Given the description of an element on the screen output the (x, y) to click on. 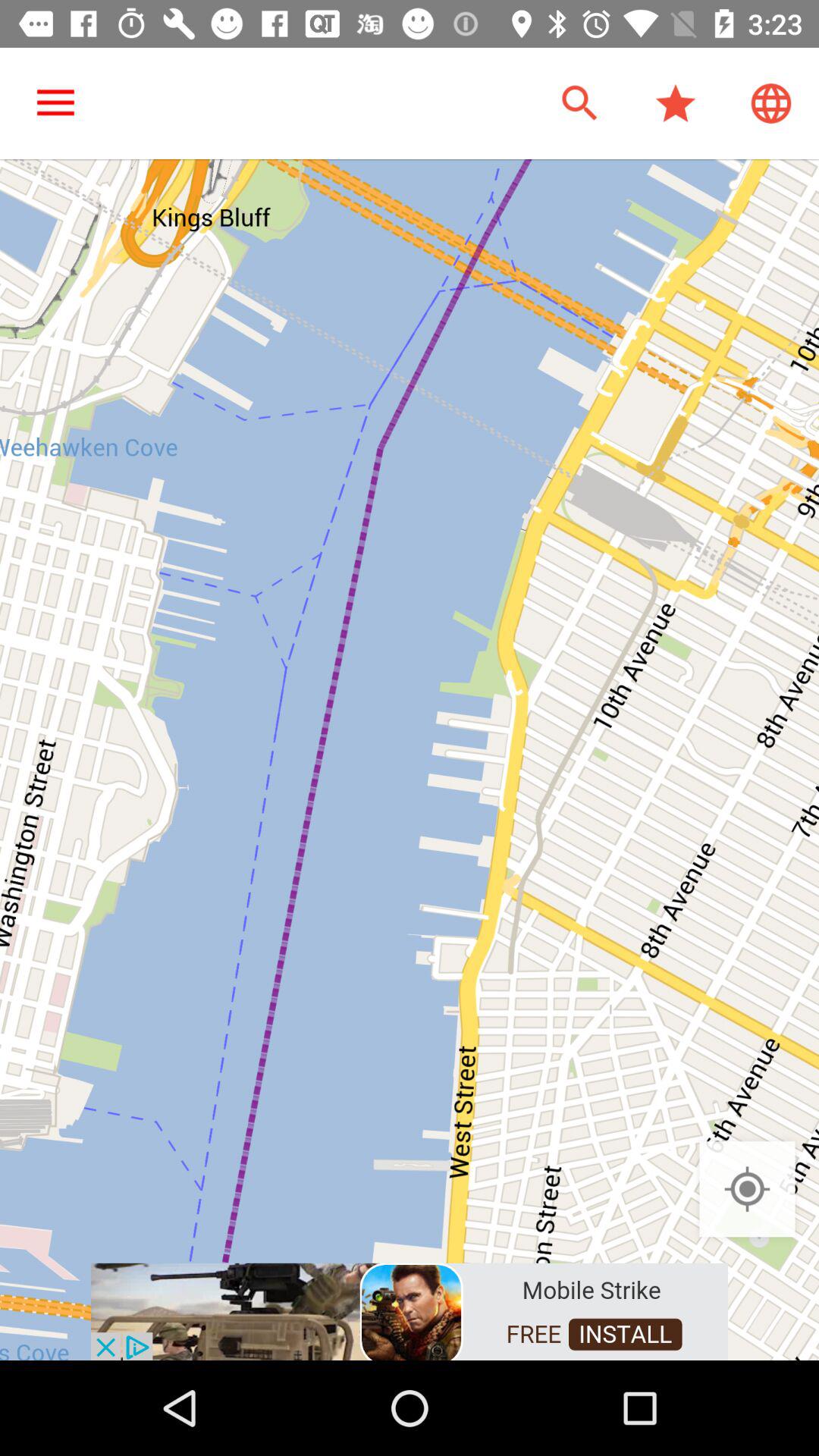
creat message (409, 1310)
